Given the description of an element on the screen output the (x, y) to click on. 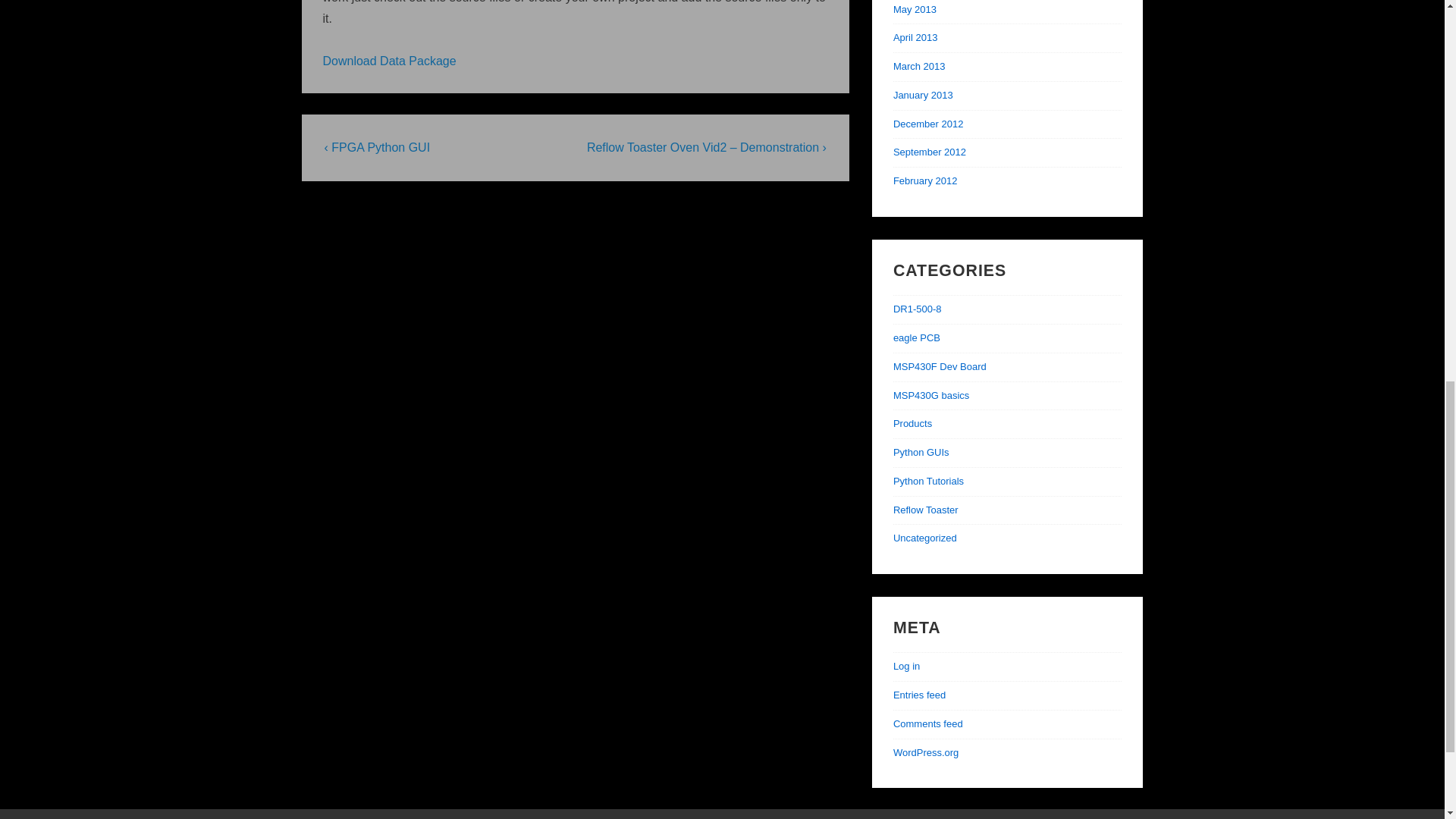
March 2013 (918, 66)
May 2013 (914, 9)
eagle PCB (916, 337)
February 2012 (925, 180)
MSP430G basics (931, 395)
Python Tutorials (928, 480)
September 2012 (929, 152)
Products (912, 423)
April 2013 (915, 37)
January 2013 (923, 94)
